Given the description of an element on the screen output the (x, y) to click on. 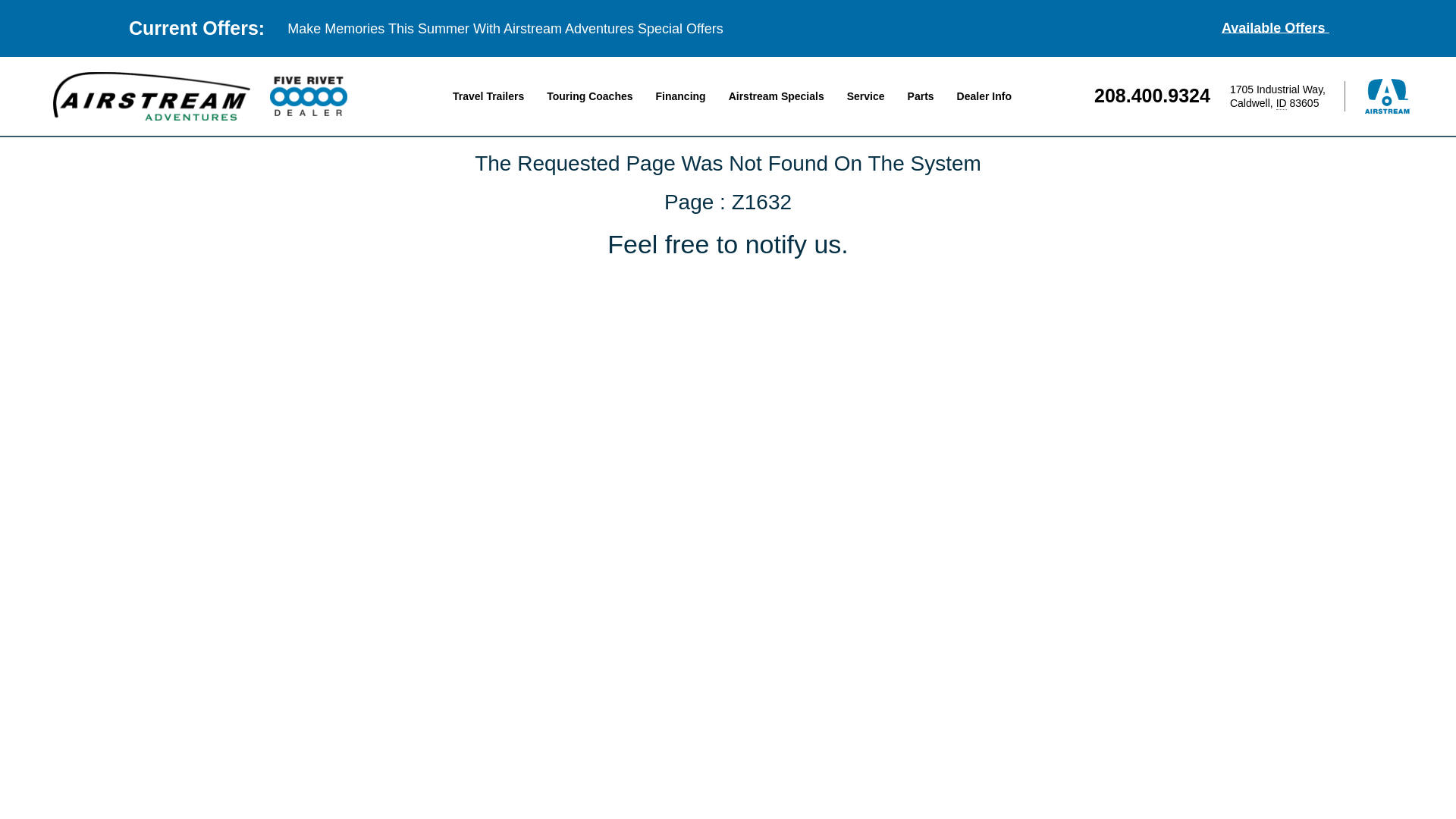
RVs for sale in Caldwell, ID (488, 95)
208.400.9324 (1151, 95)
Discover Current Offers in Caldwell, ID (1275, 28)
Travel Trailers (488, 95)
Boise Airstream is a RVs dealer in Caldwell, ID (151, 96)
Available Offers (1275, 28)
Call Boise Airstream (1151, 95)
